Given the description of an element on the screen output the (x, y) to click on. 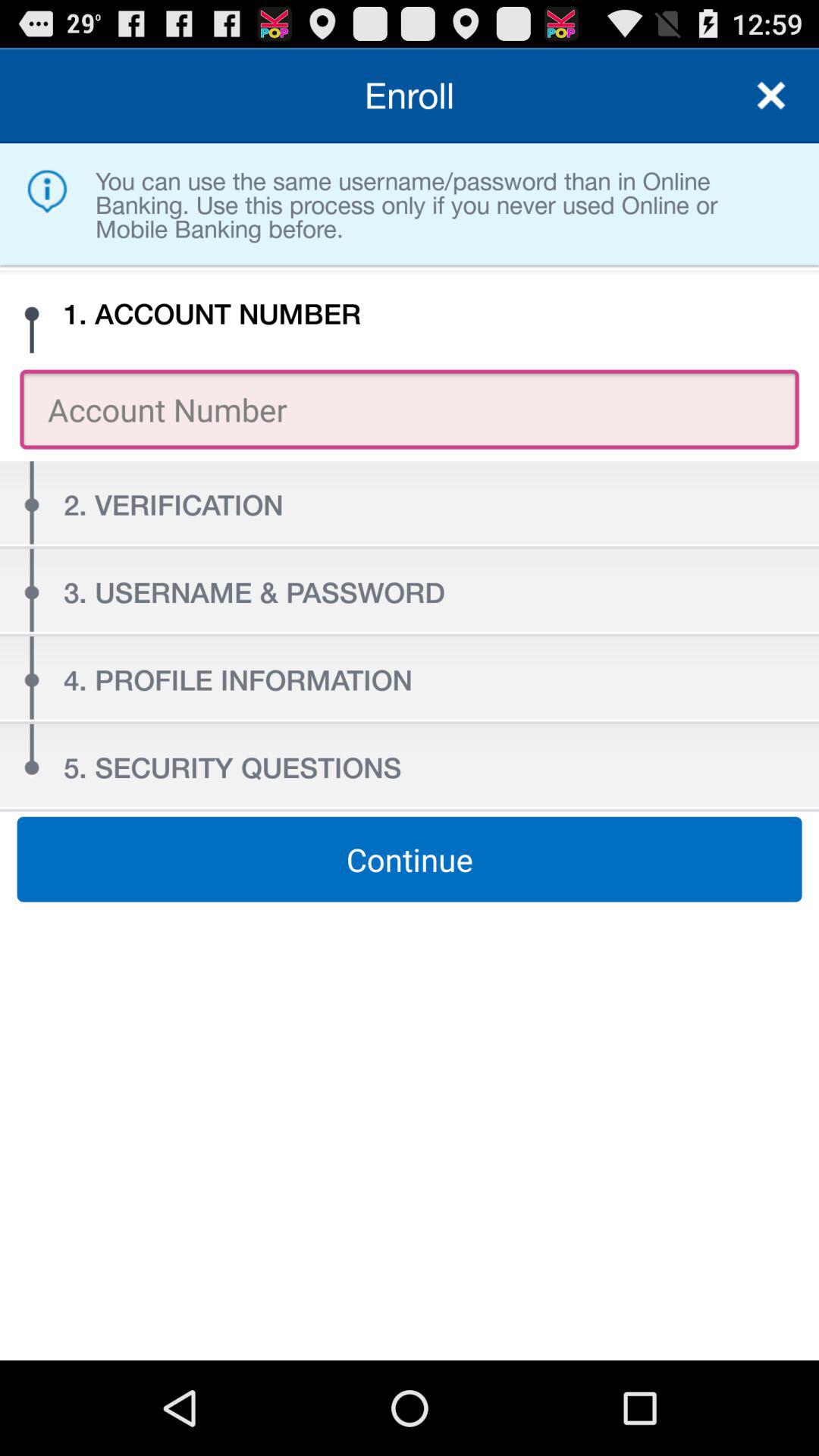
press the enroll icon (409, 95)
